Given the description of an element on the screen output the (x, y) to click on. 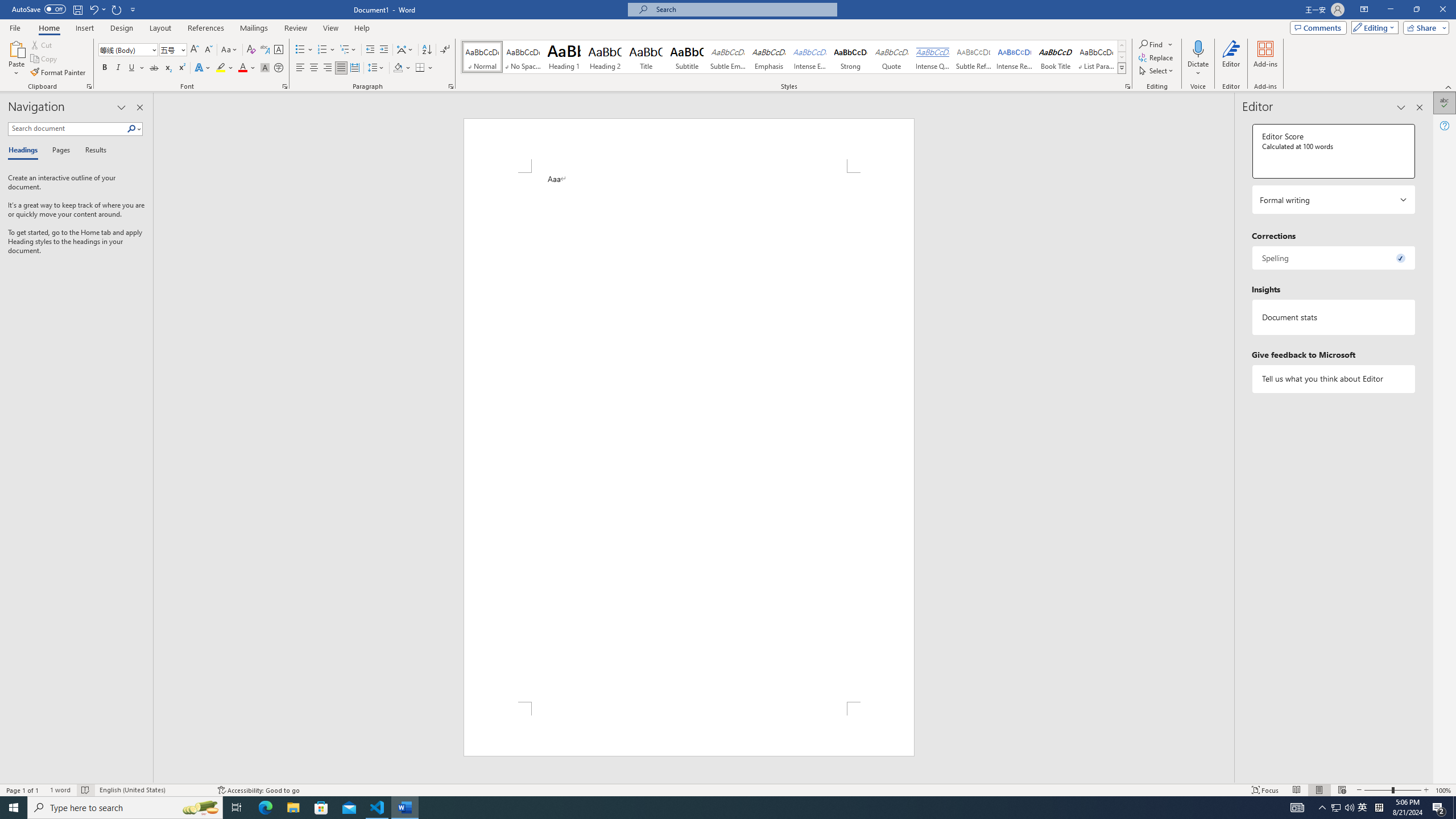
Styles... (1127, 85)
Grow Font (193, 49)
Copy (45, 58)
Intense Quote (932, 56)
